Given the description of an element on the screen output the (x, y) to click on. 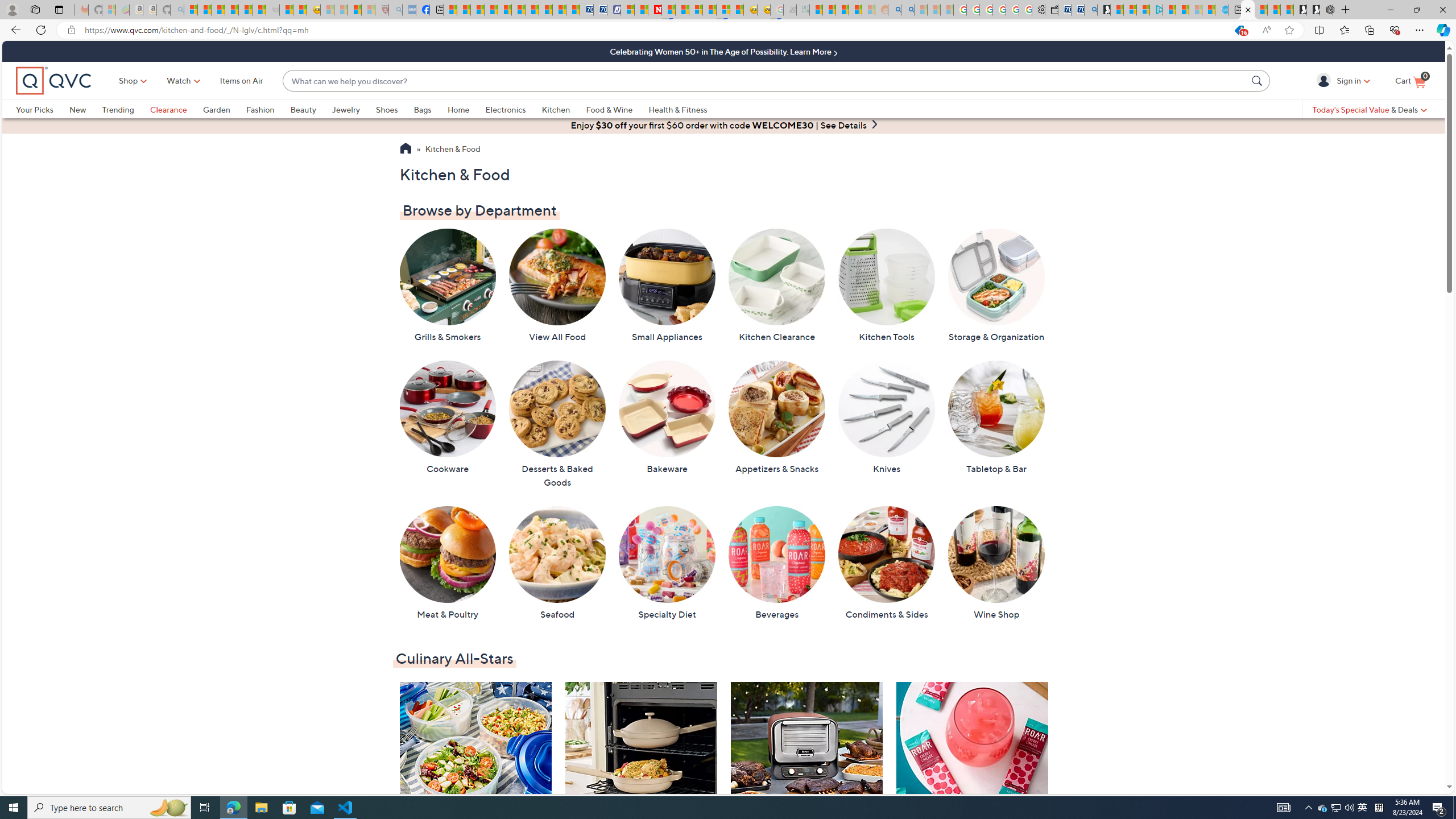
Beauty (302, 109)
12 Popular Science Lies that Must be Corrected - Sleeping (368, 9)
Clearance (168, 109)
What can we help you discover? (764, 80)
Health & Fitness (677, 109)
